Given the description of an element on the screen output the (x, y) to click on. 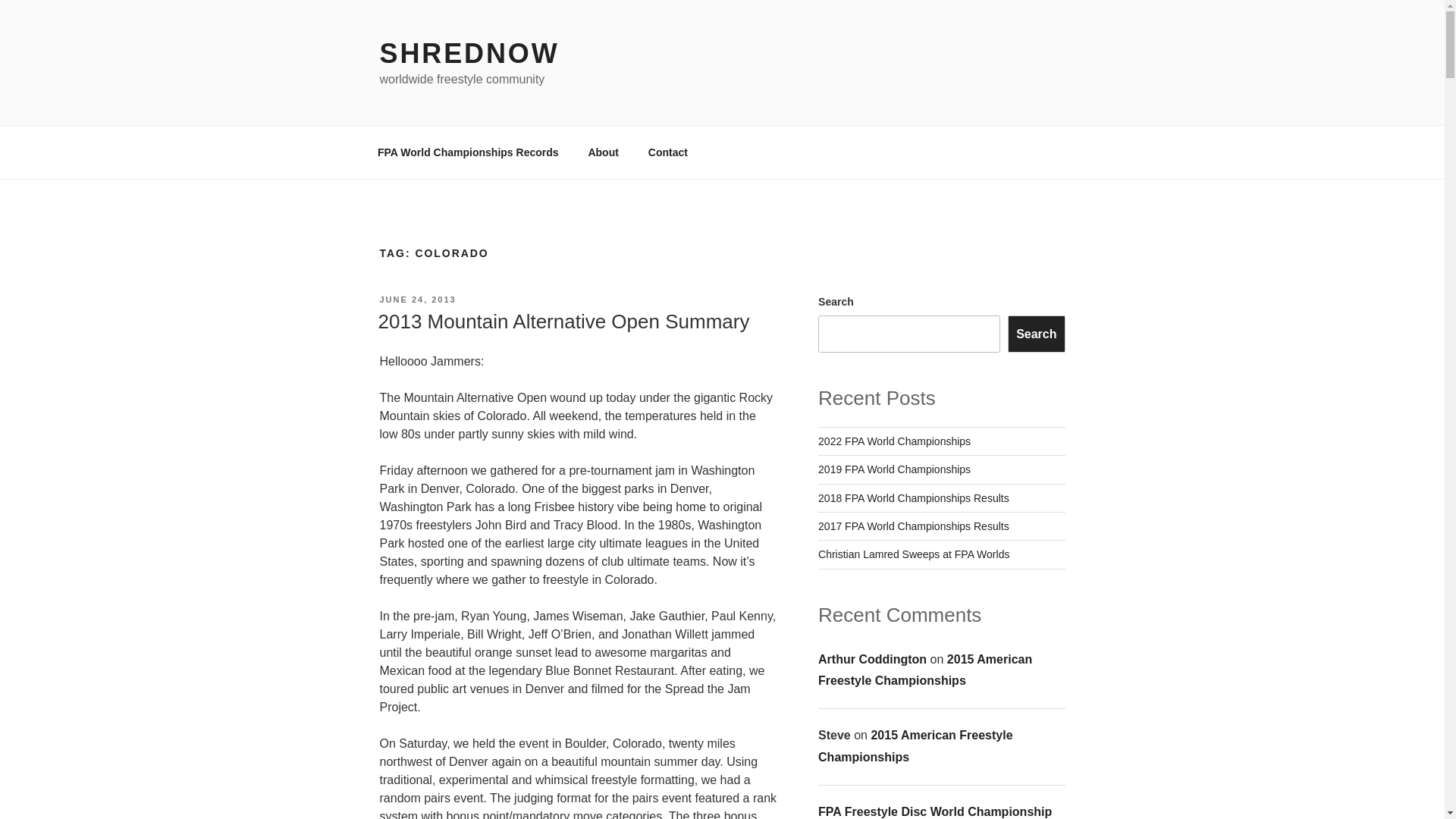
2019 FPA World Championships (894, 469)
2018 FPA World Championships Results (913, 498)
2013 Mountain Alternative Open Summary (563, 321)
JUNE 24, 2013 (416, 298)
Arthur Coddington (872, 658)
FPA World Championships Records (468, 151)
2015 American Freestyle Championships (925, 669)
About (603, 151)
2015 American Freestyle Championships (914, 745)
2017 FPA World Championships Results (913, 526)
